Given the description of an element on the screen output the (x, y) to click on. 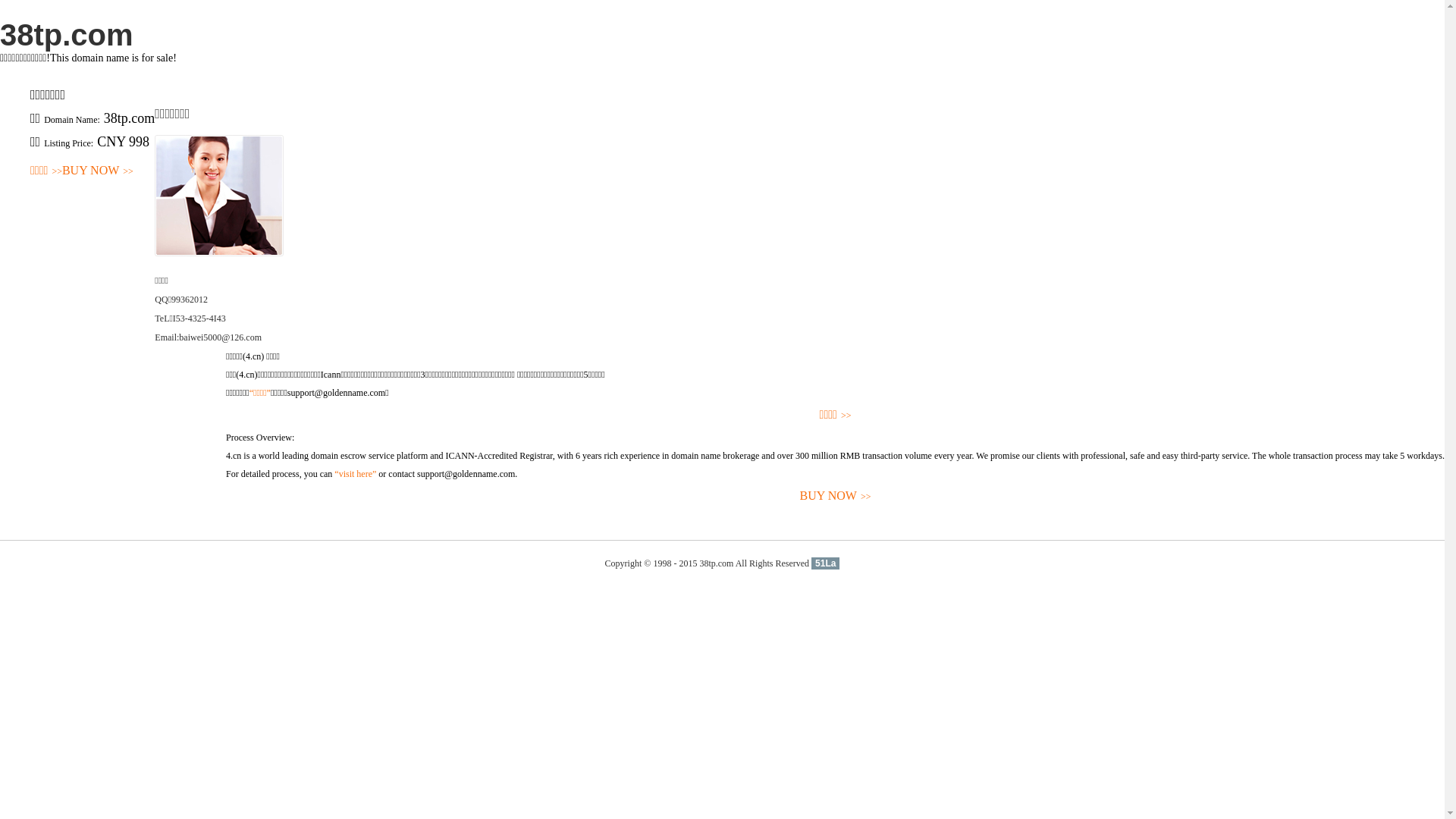
BUY NOW>> Element type: text (834, 496)
BUY NOW>> Element type: text (97, 170)
51La Element type: text (825, 563)
